Given the description of an element on the screen output the (x, y) to click on. 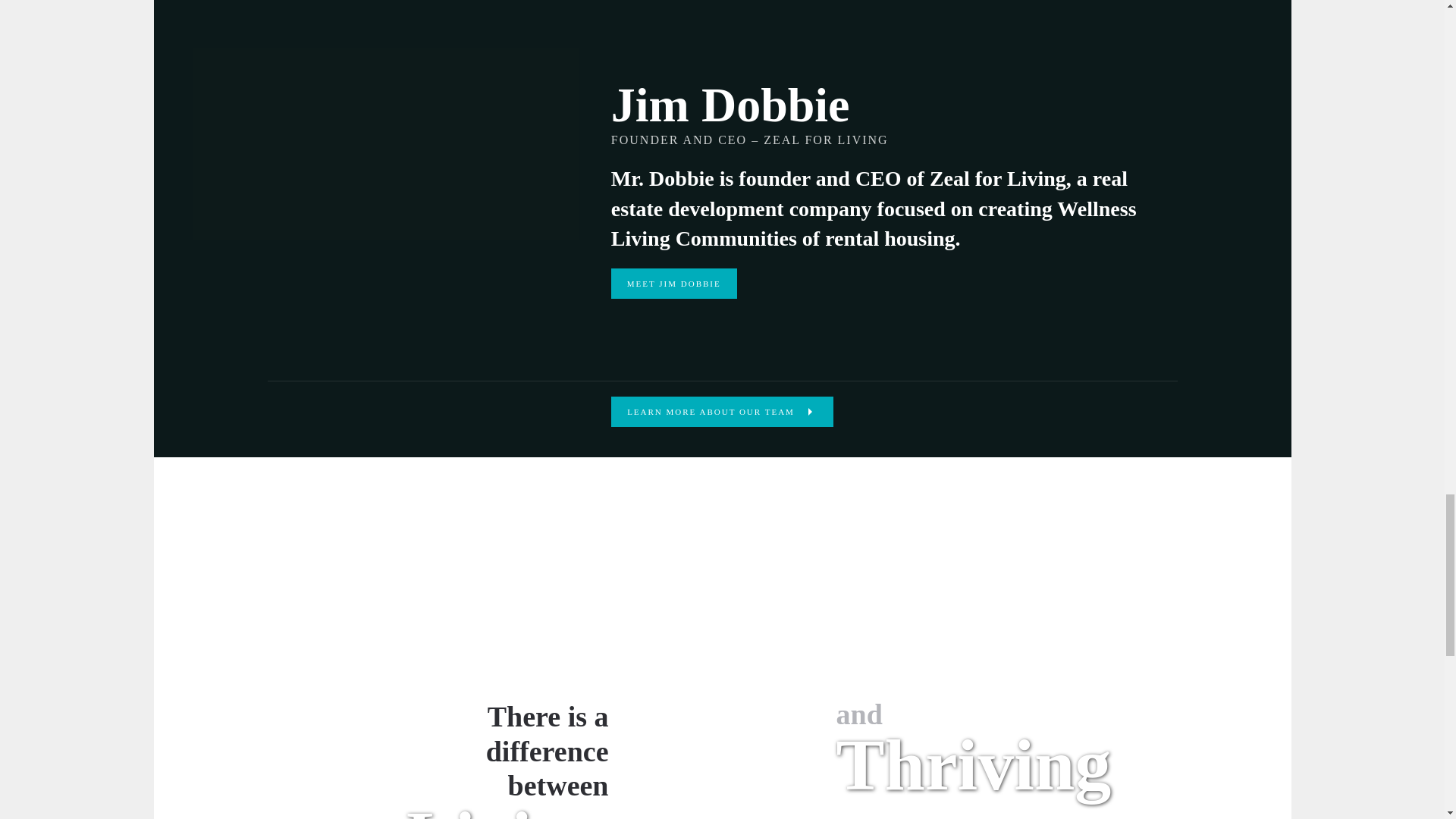
LEARN MORE ABOUT OUR TEAM (721, 411)
MEET JIM DOBBIE (673, 283)
Our Team (721, 411)
